Given the description of an element on the screen output the (x, y) to click on. 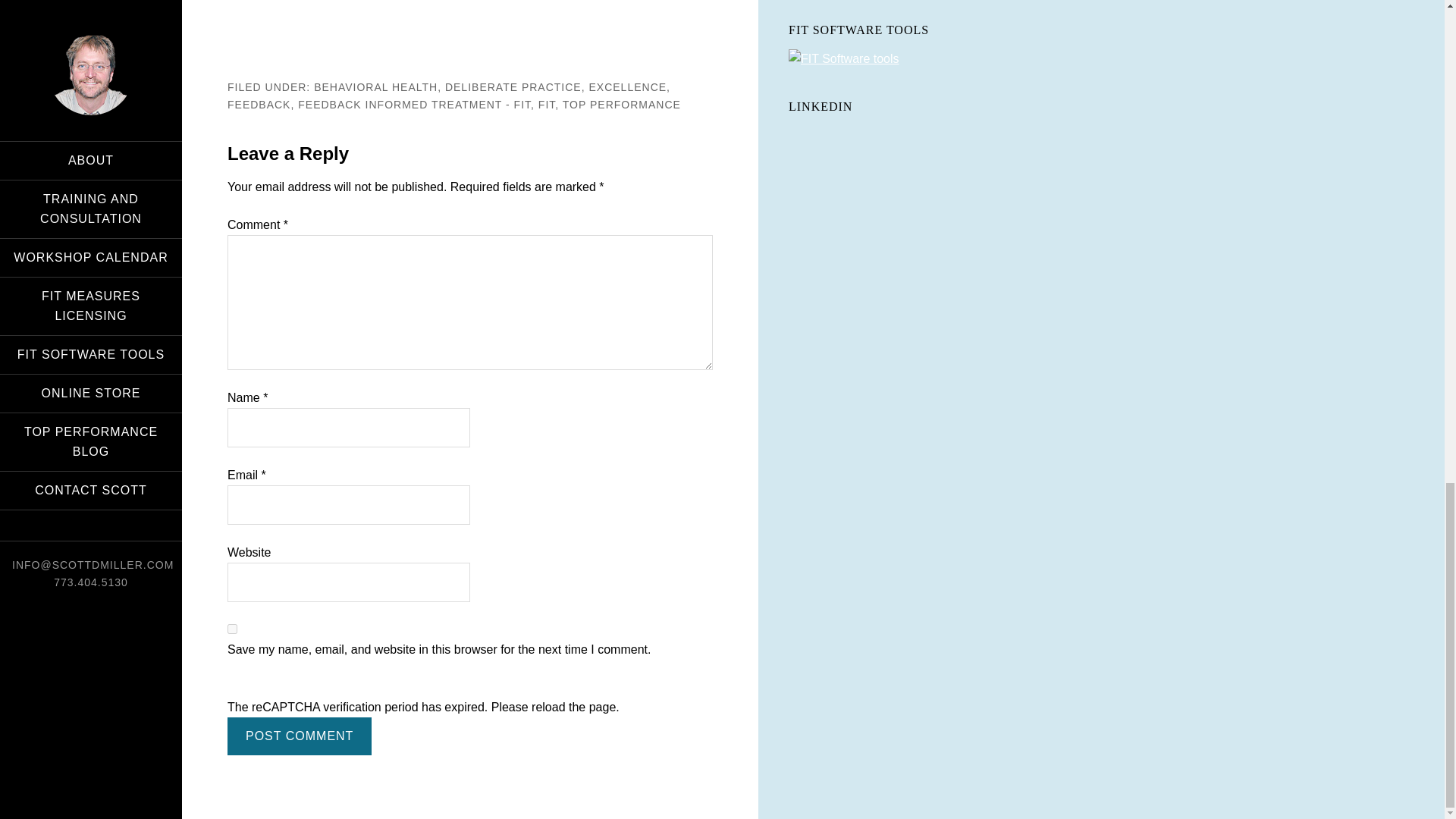
Post Comment (299, 736)
yes (232, 628)
FIT (546, 103)
BEHAVIORAL HEALTH (376, 87)
DELIBERATE PRACTICE (512, 87)
FEEDBACK INFORMED TREATMENT - FIT (414, 103)
EXCELLENCE (627, 87)
TOP PERFORMANCE (621, 103)
Post Comment (299, 736)
FEEDBACK (258, 103)
